Given the description of an element on the screen output the (x, y) to click on. 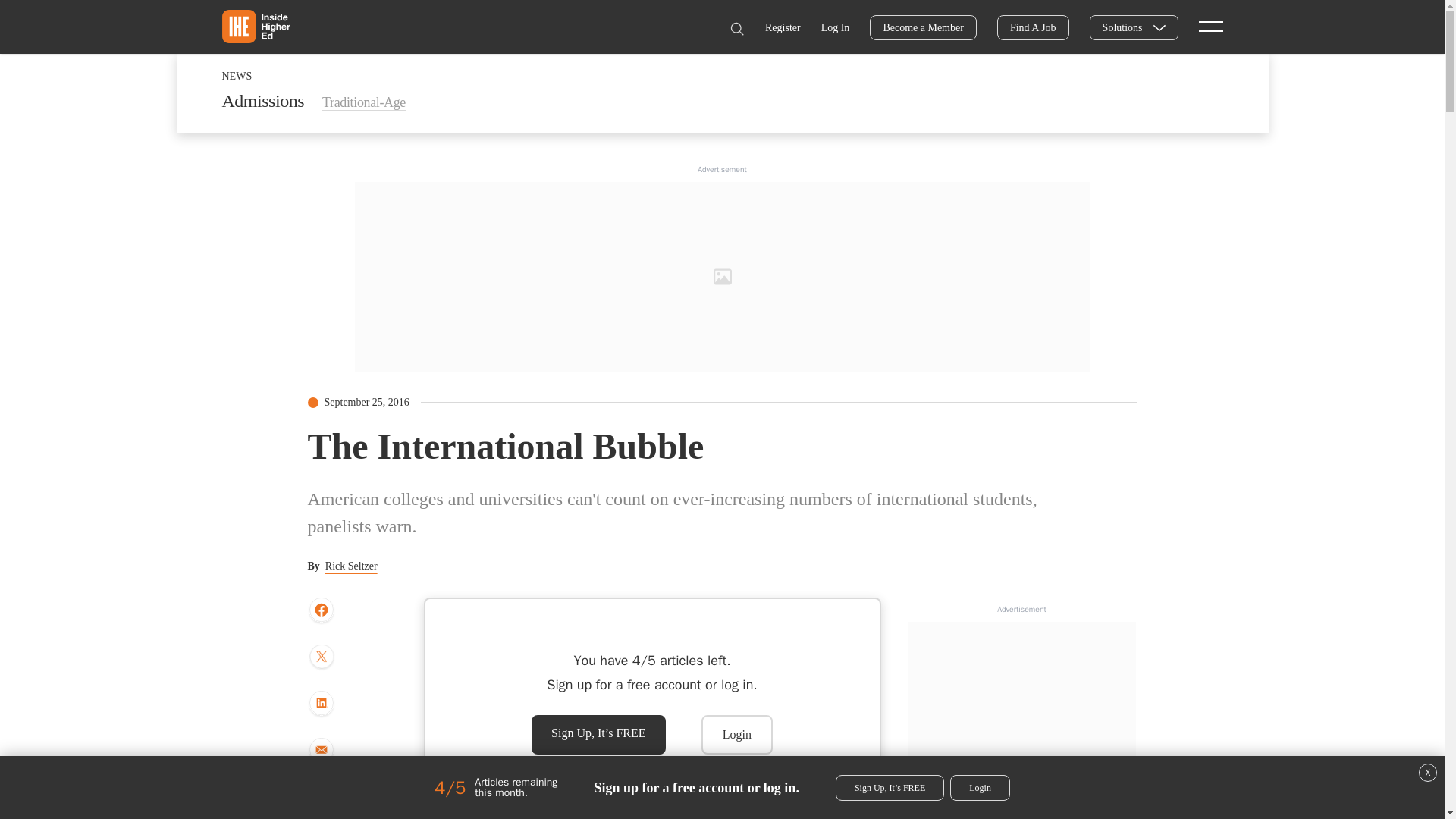
share by email (320, 750)
share to twitter (320, 657)
Home (255, 26)
Search (736, 28)
share to Linkedin (320, 704)
share to facebook (320, 610)
Become a Member (922, 27)
Find A Job (1032, 27)
